Given the description of an element on the screen output the (x, y) to click on. 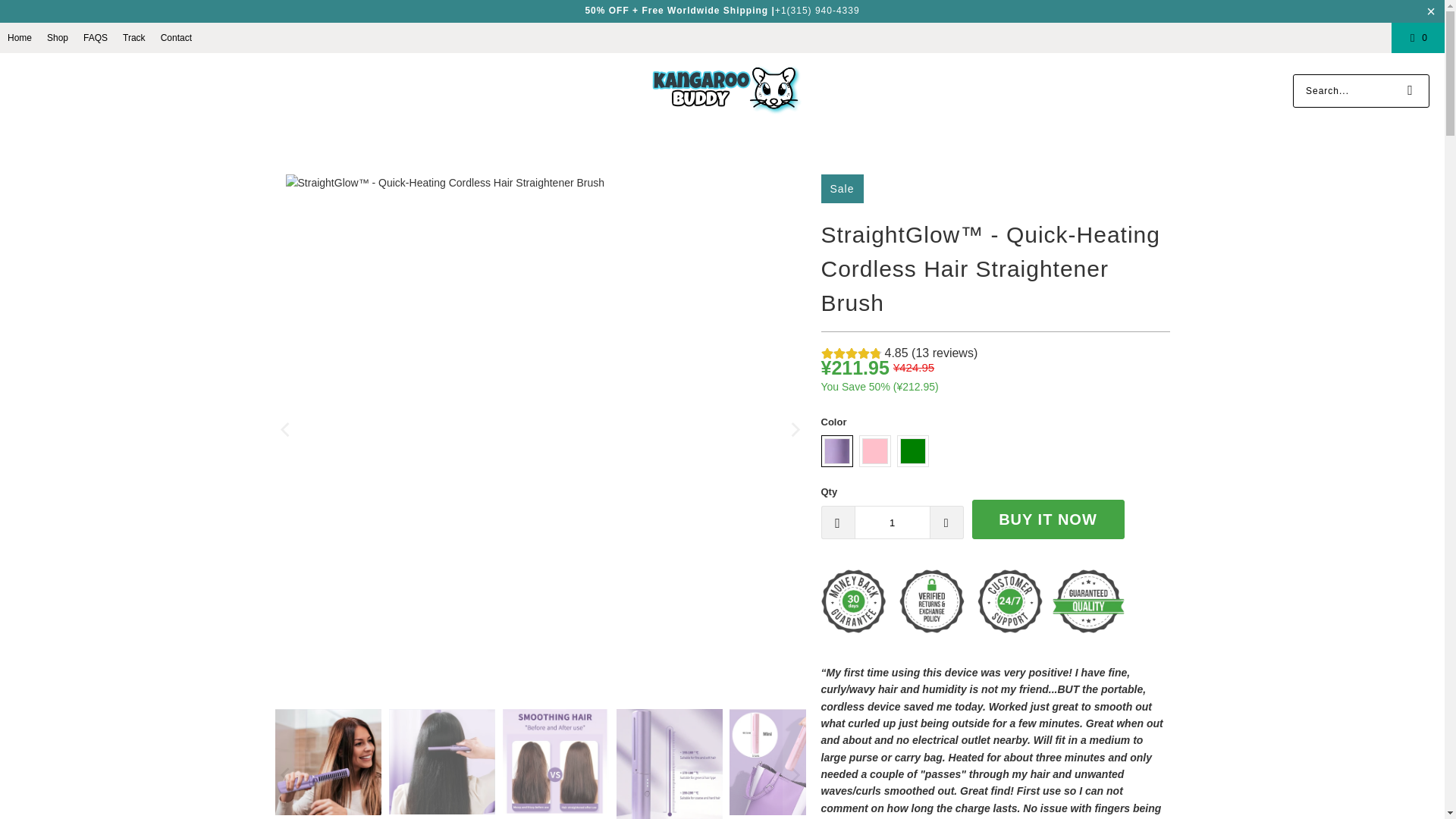
1 (891, 522)
Shop (57, 37)
BUY IT NOW (1048, 518)
FAQS (94, 37)
Contact (176, 37)
Home (19, 37)
Track (133, 37)
Kangaroo Buddy (727, 90)
